Given the description of an element on the screen output the (x, y) to click on. 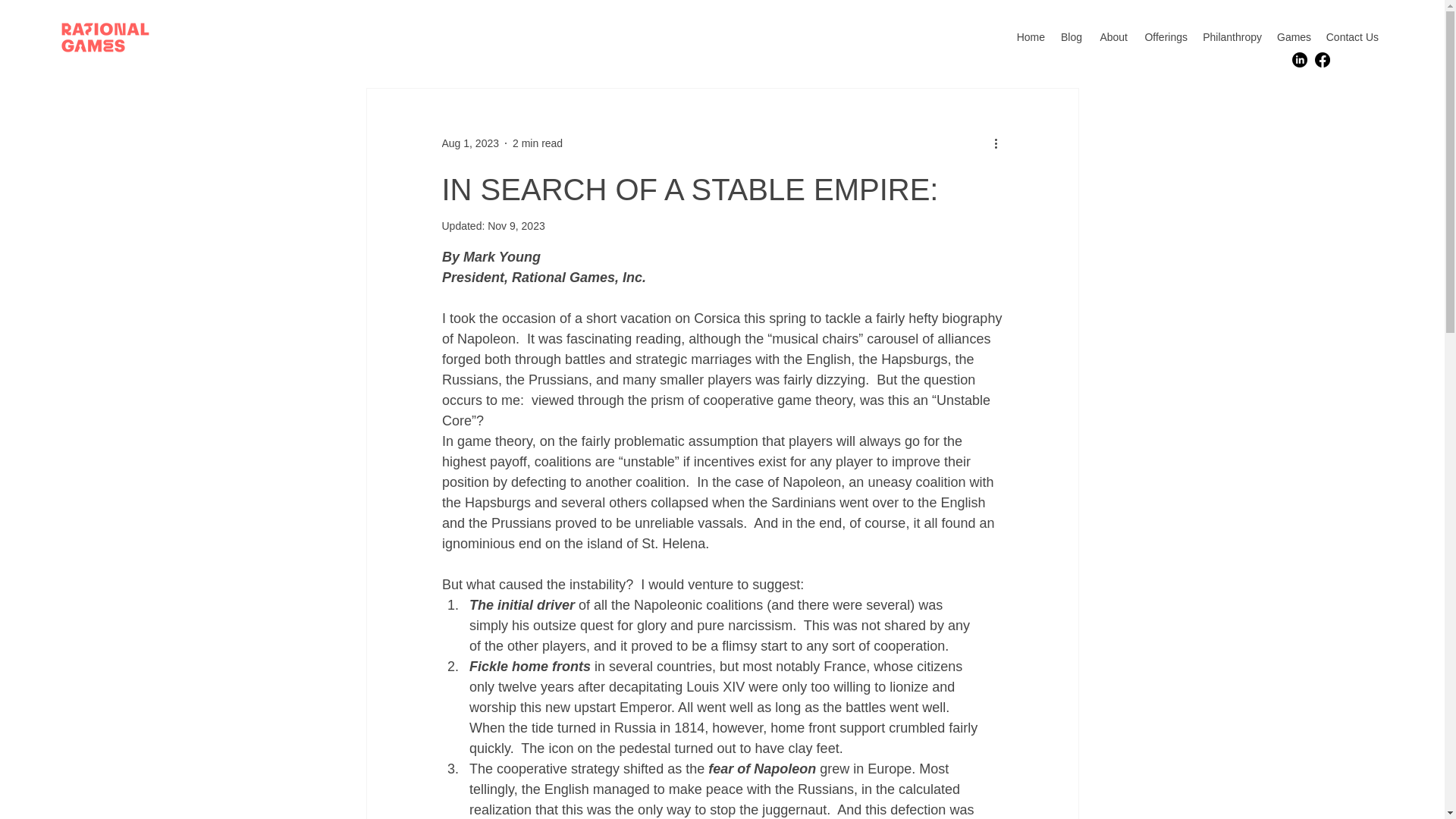
About (1112, 36)
Nov 9, 2023 (515, 225)
Contact Us (1351, 36)
Aug 1, 2023 (470, 142)
Home (1030, 36)
Offerings (1165, 36)
Blog (1070, 36)
2 min read (537, 142)
Games (1293, 36)
Philanthropy (1232, 36)
